Given the description of an element on the screen output the (x, y) to click on. 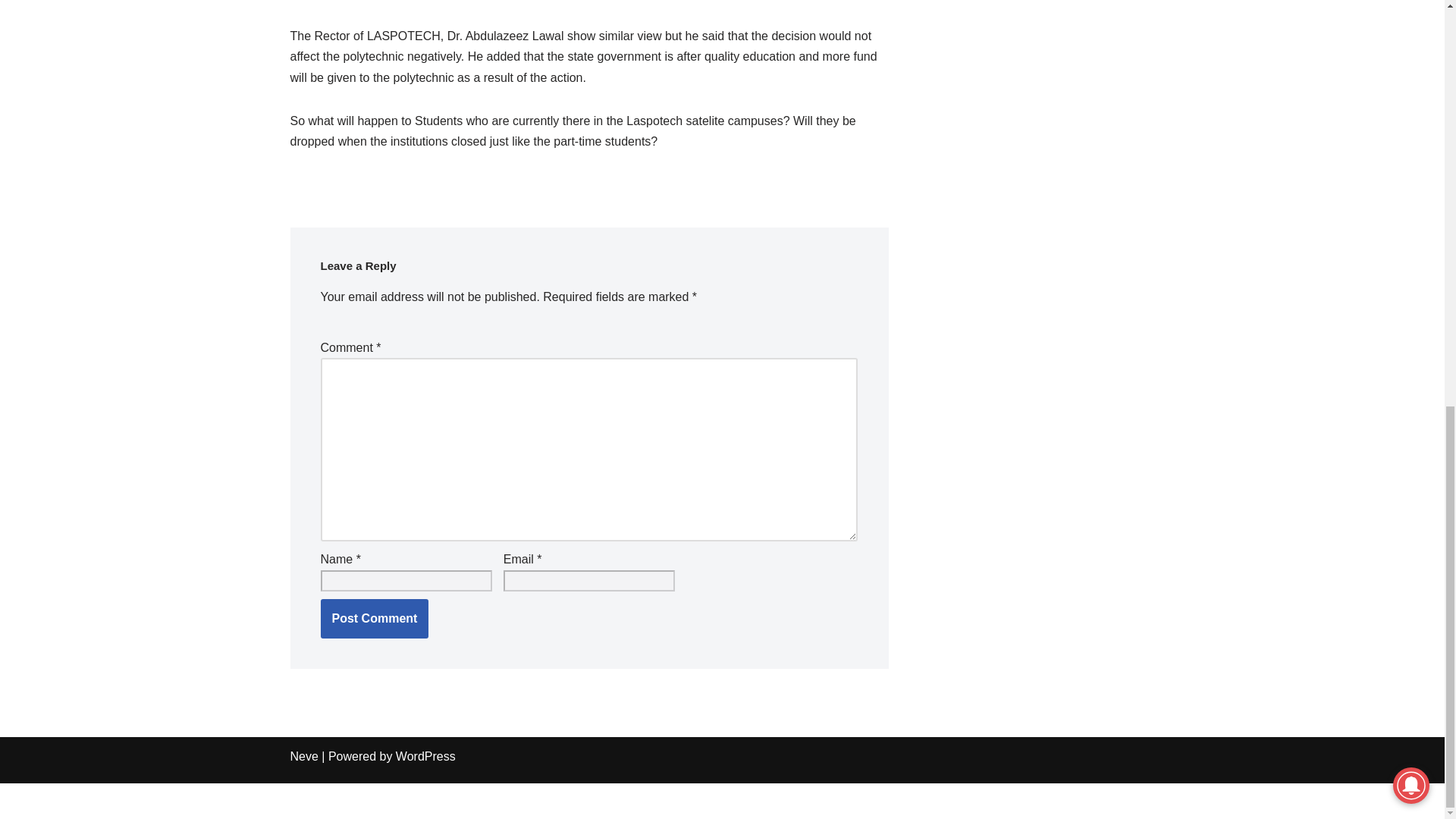
Post Comment (374, 618)
